Given the description of an element on the screen output the (x, y) to click on. 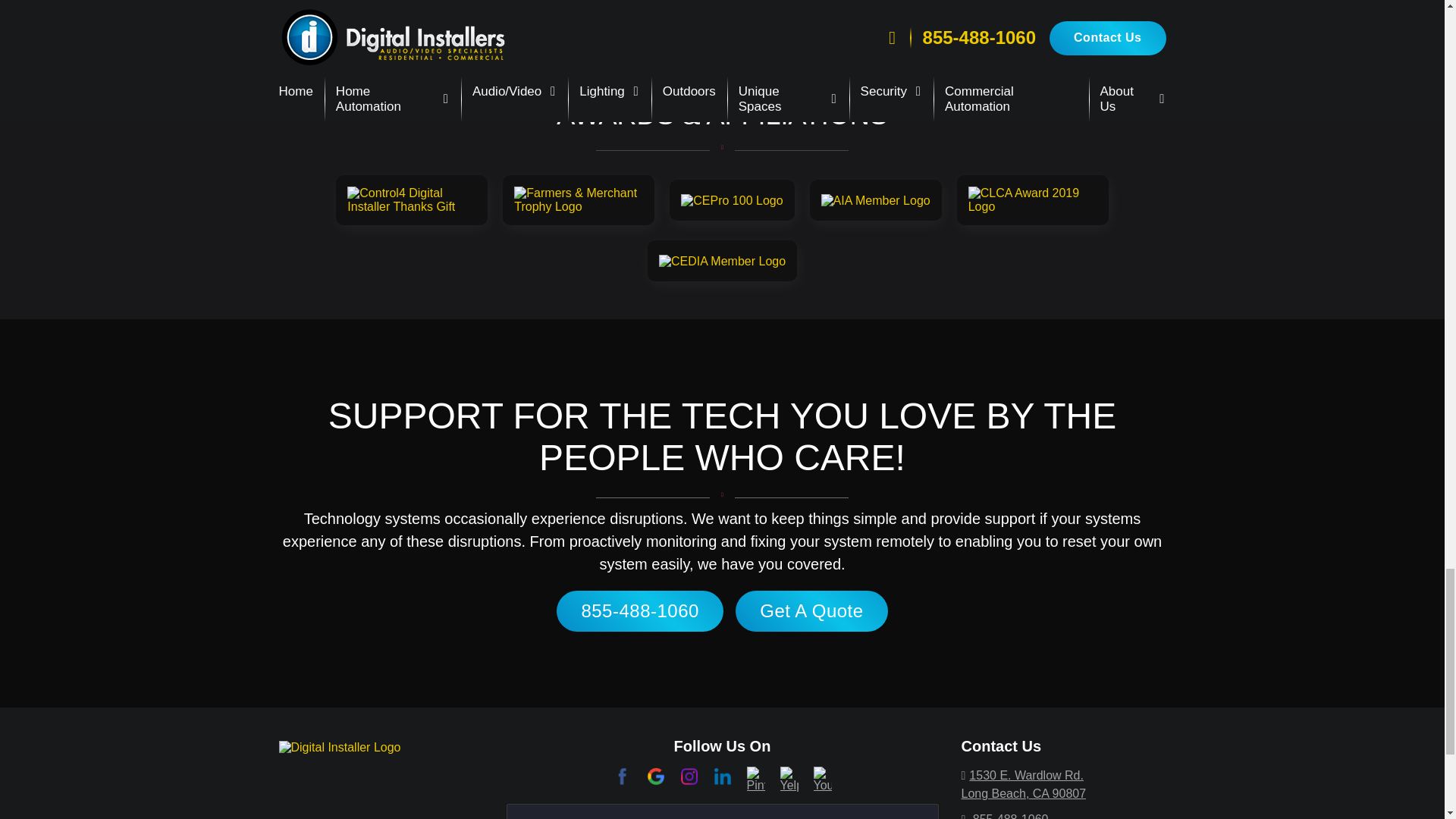
View Facebook (621, 775)
View Instagram (688, 775)
View Pinterest  (754, 779)
View LinkedIn (721, 775)
View Google (654, 775)
View Yelp (787, 779)
View Youtube (821, 779)
